Given the description of an element on the screen output the (x, y) to click on. 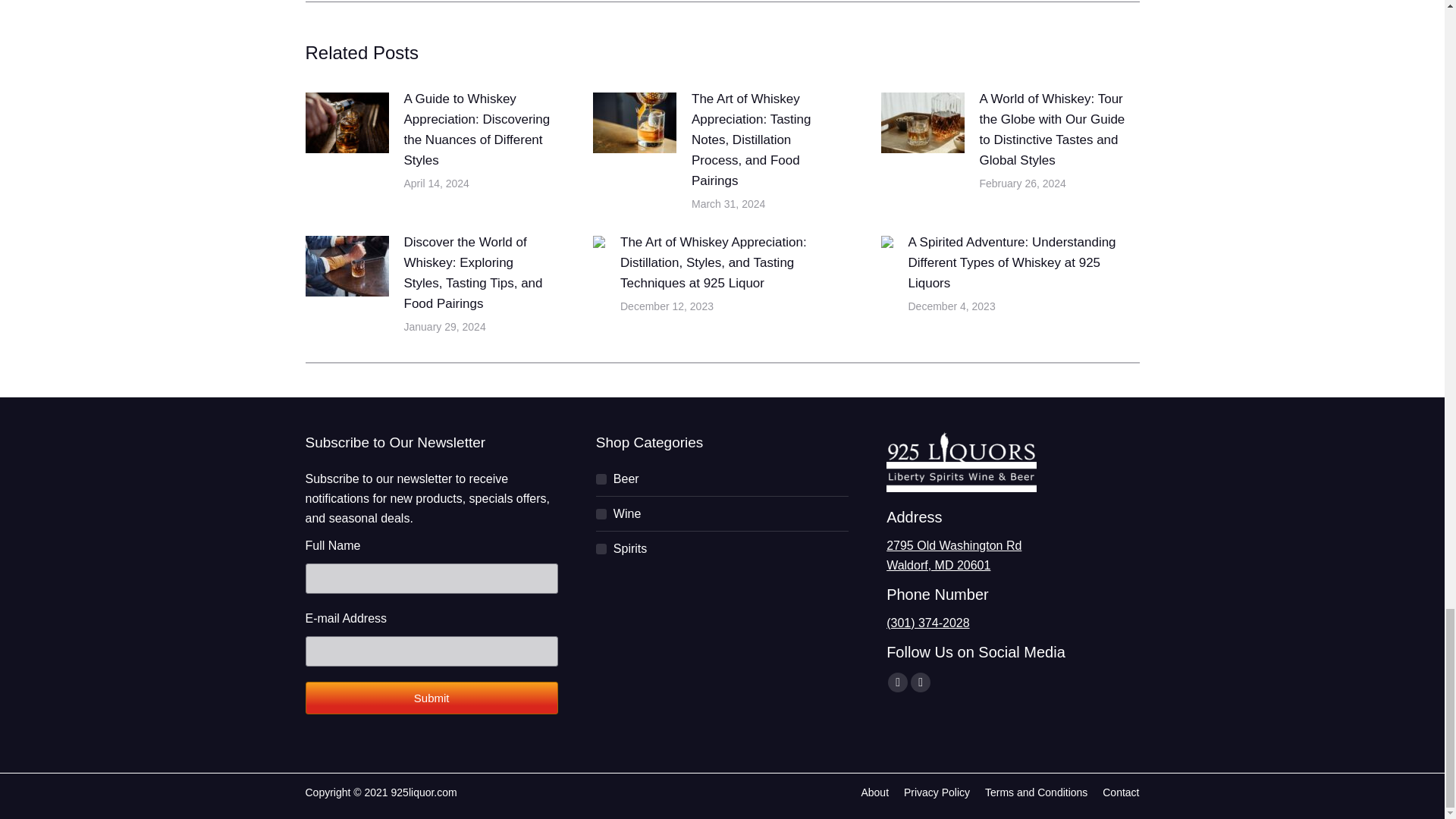
Instagram page opens in new window (920, 682)
Facebook page opens in new window (897, 682)
925 Liquor (961, 495)
Submit (430, 697)
